Given the description of an element on the screen output the (x, y) to click on. 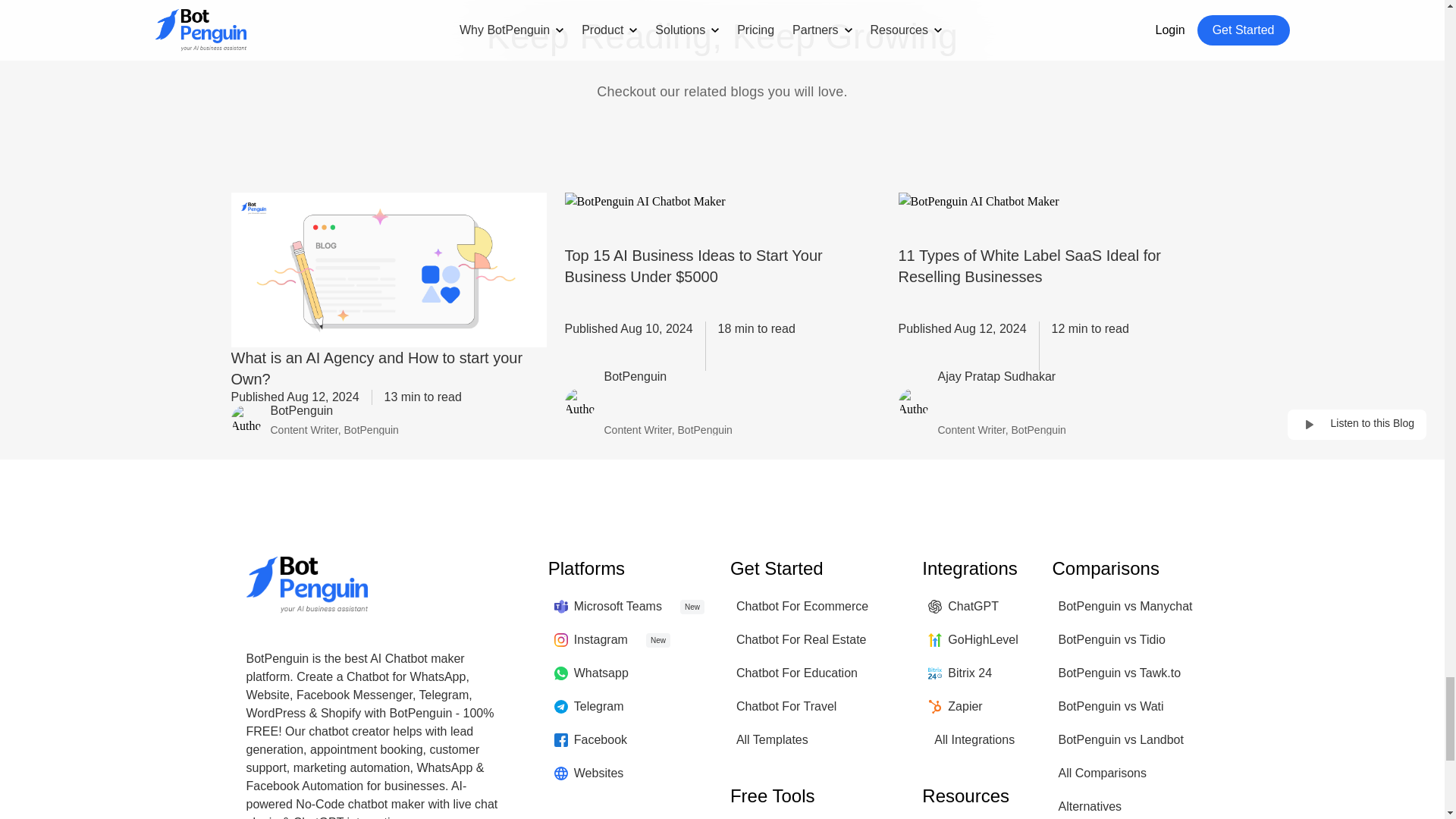
Instagram (590, 639)
Whatsapp (591, 673)
Websites (589, 773)
BotPenguin (668, 378)
What is an AI Agency and How to start your Own? (388, 368)
BotPenguin (333, 412)
Microsoft Teams (608, 605)
Facebook (590, 739)
Telegram (589, 706)
Ajay Pratap Sudhakar (1001, 378)
